Given the description of an element on the screen output the (x, y) to click on. 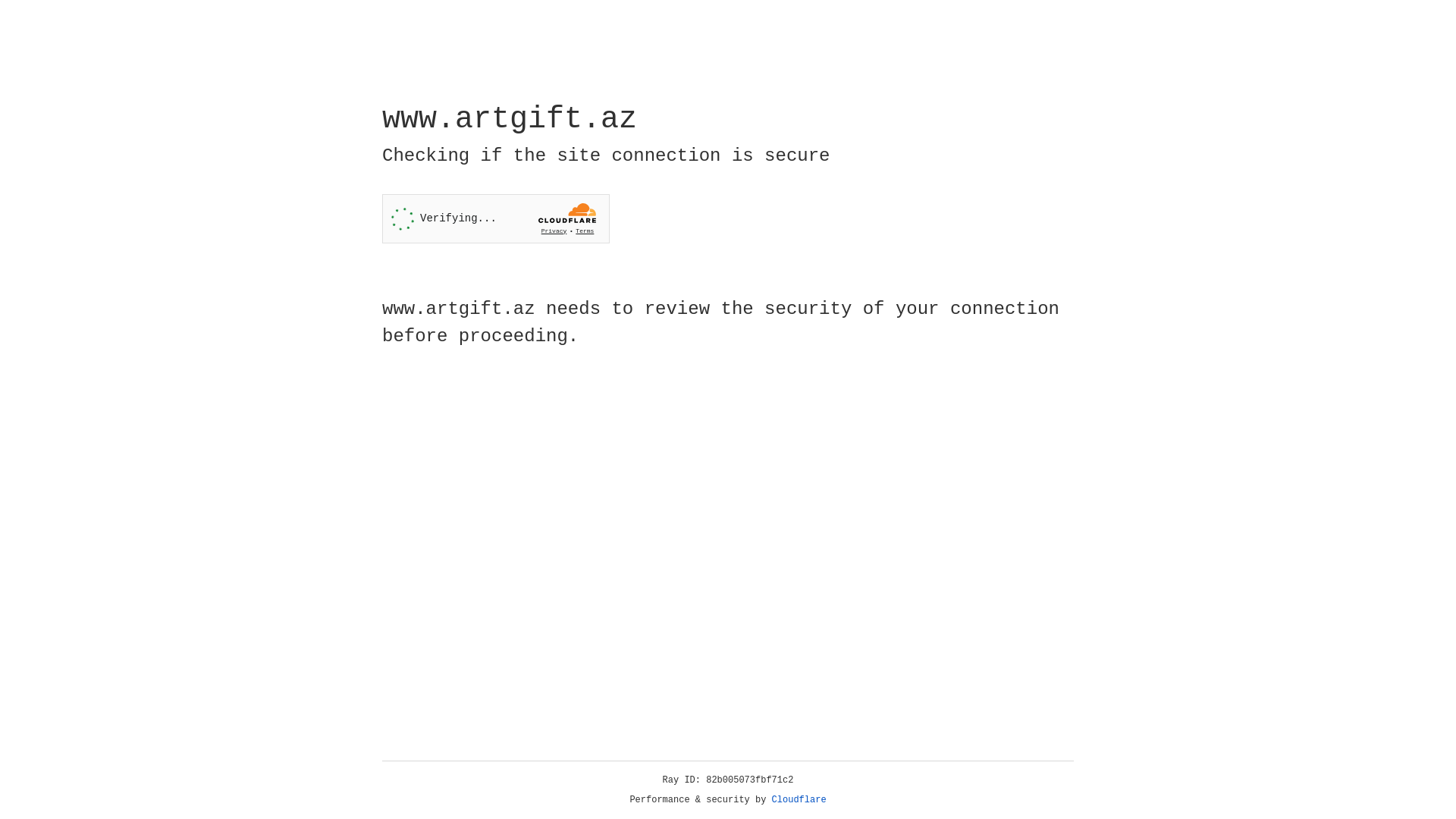
Widget containing a Cloudflare security challenge Element type: hover (495, 218)
Cloudflare Element type: text (798, 799)
